Given the description of an element on the screen output the (x, y) to click on. 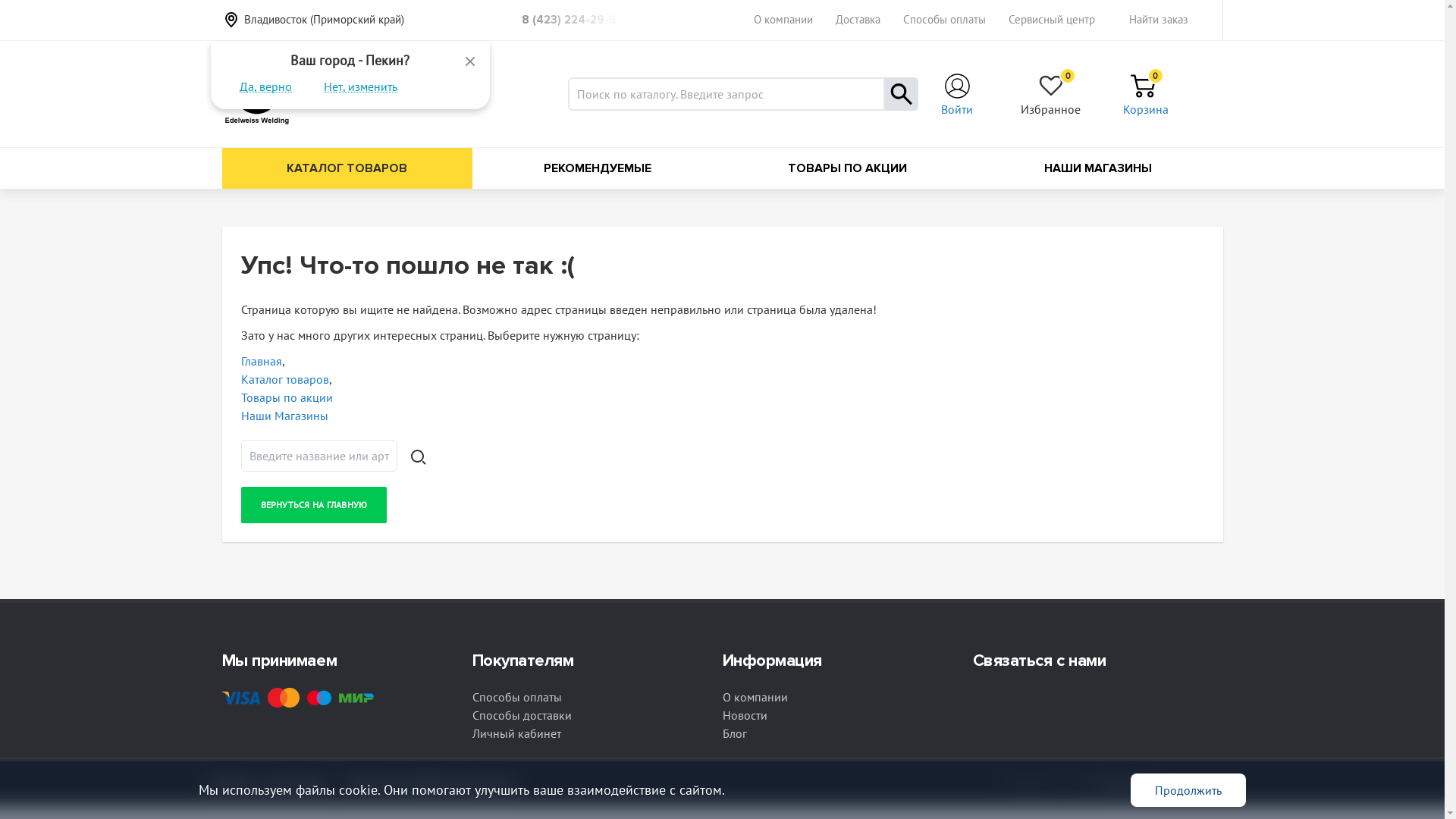
8 (423) 224-29-6 Element type: text (572, 19)
vesnindev.ru Element type: text (1131, 782)
